Given the description of an element on the screen output the (x, y) to click on. 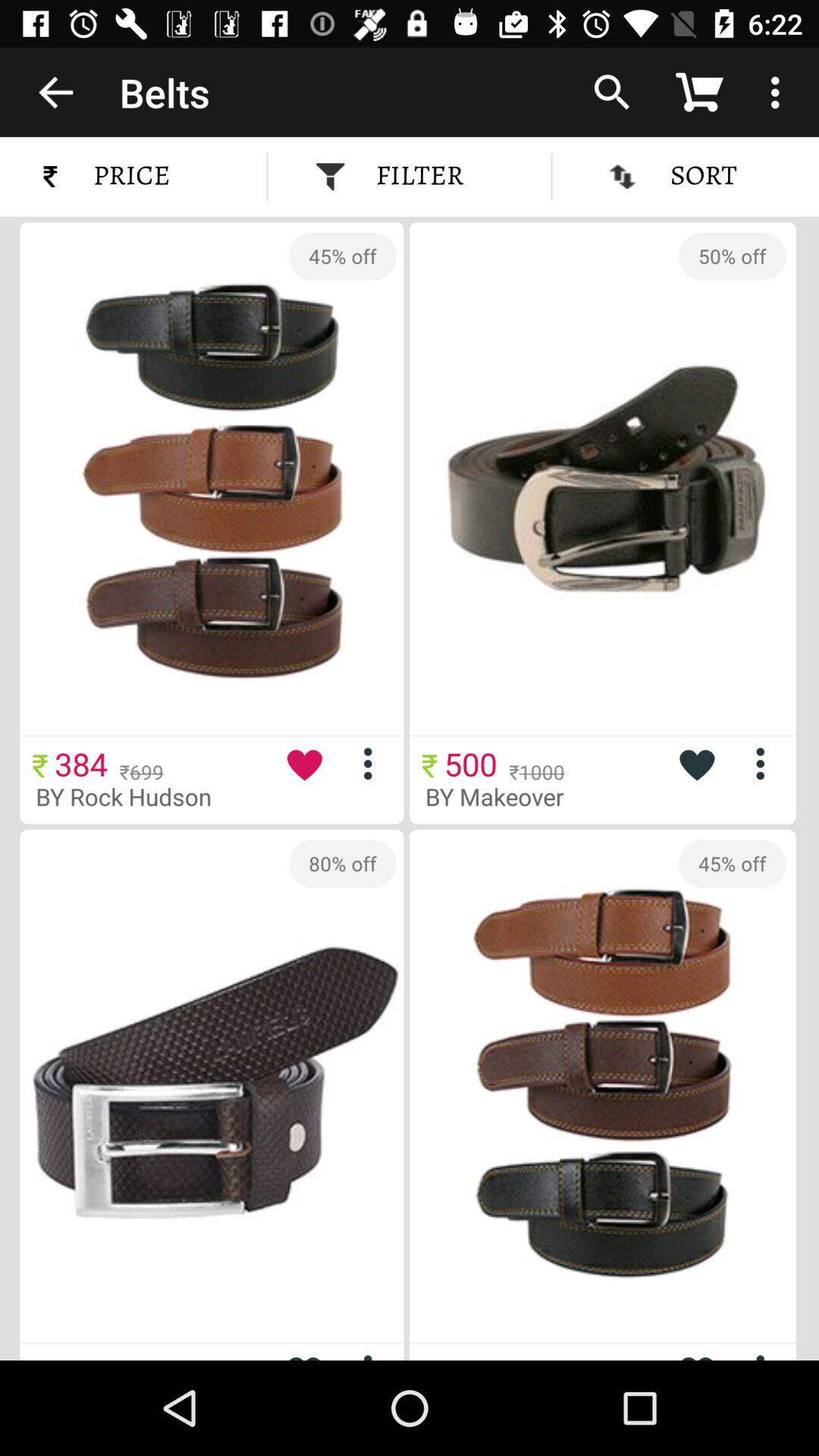
no (766, 1353)
